Given the description of an element on the screen output the (x, y) to click on. 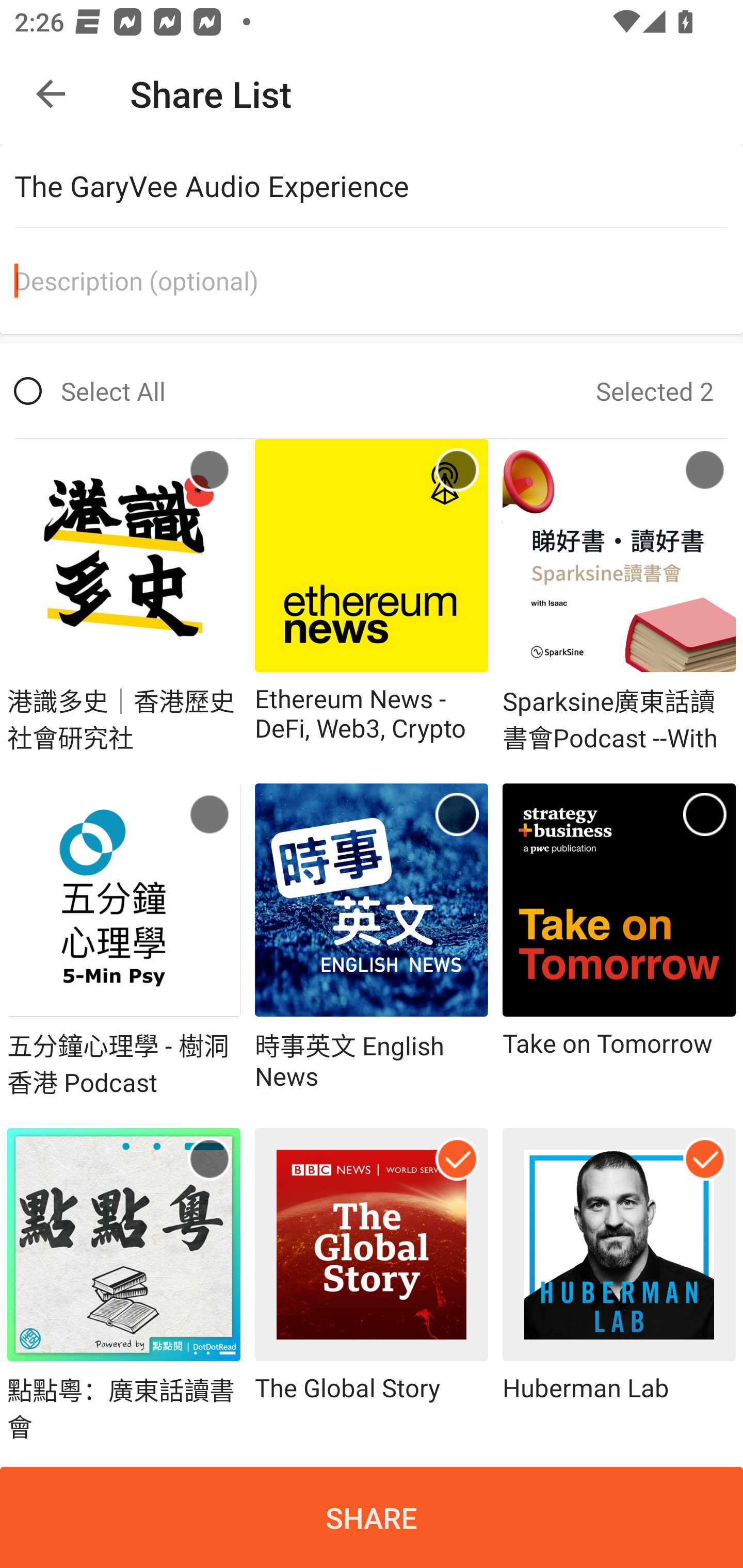
Navigate up (50, 93)
The GaryVee Audio Experience (378, 185)
Description (optional) (378, 280)
Select All (89, 391)
港識多史｜香港歷史社會研究社 (123, 596)
Ethereum News - DeFi, Web3, Crypto (371, 596)
Sparksine廣東話讀書會Podcast --With Isaac (618, 596)
五分鐘心理學 - 樹洞香港 Podcast (123, 941)
時事英文 English News (371, 941)
Take on Tomorrow (618, 941)
點點粵：廣東話讀書會 (123, 1285)
The Global Story (371, 1285)
Huberman Lab (618, 1285)
SHARE (371, 1517)
